Given the description of an element on the screen output the (x, y) to click on. 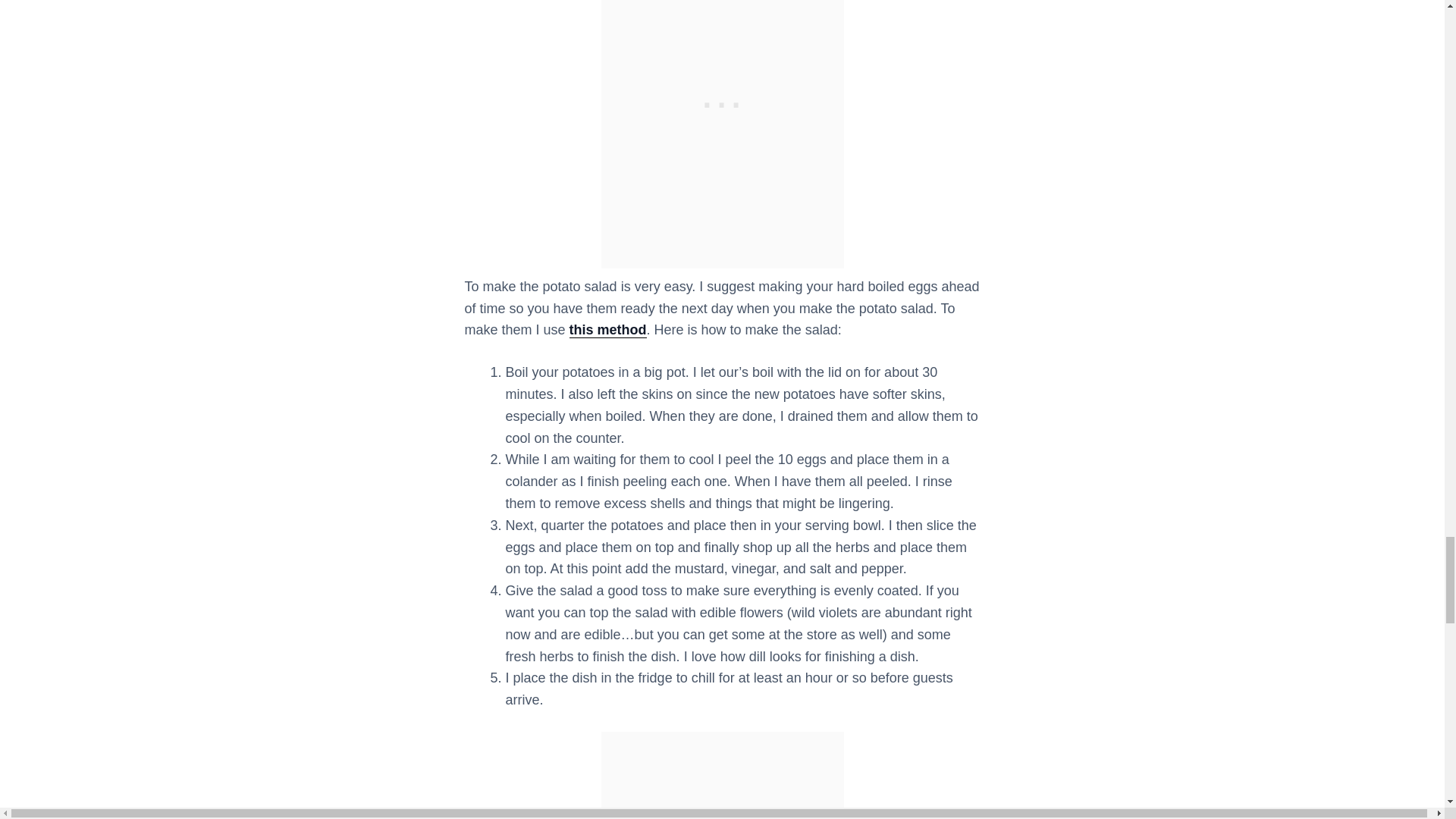
this method (607, 330)
